Given the description of an element on the screen output the (x, y) to click on. 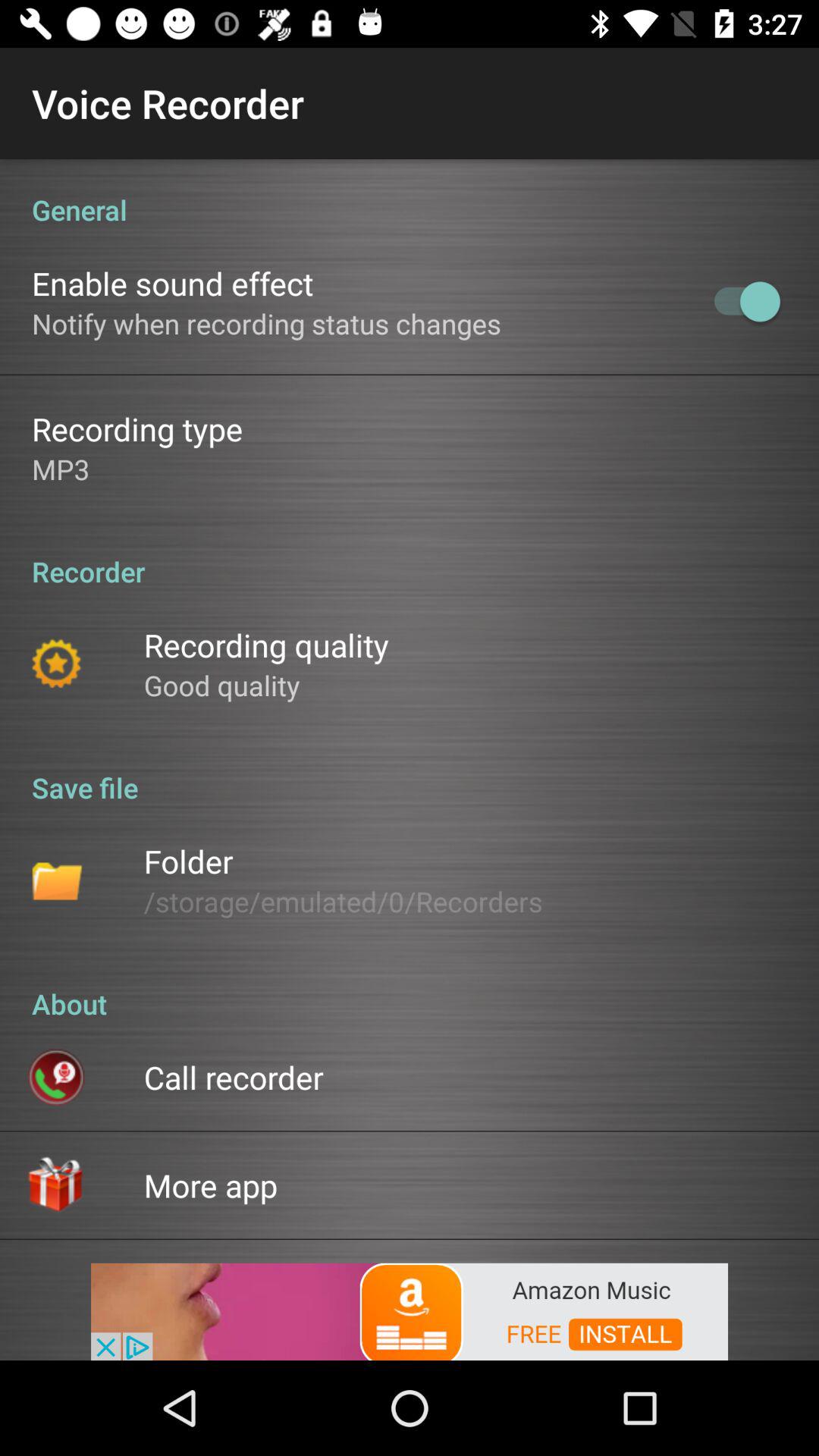
install application (409, 1310)
